Given the description of an element on the screen output the (x, y) to click on. 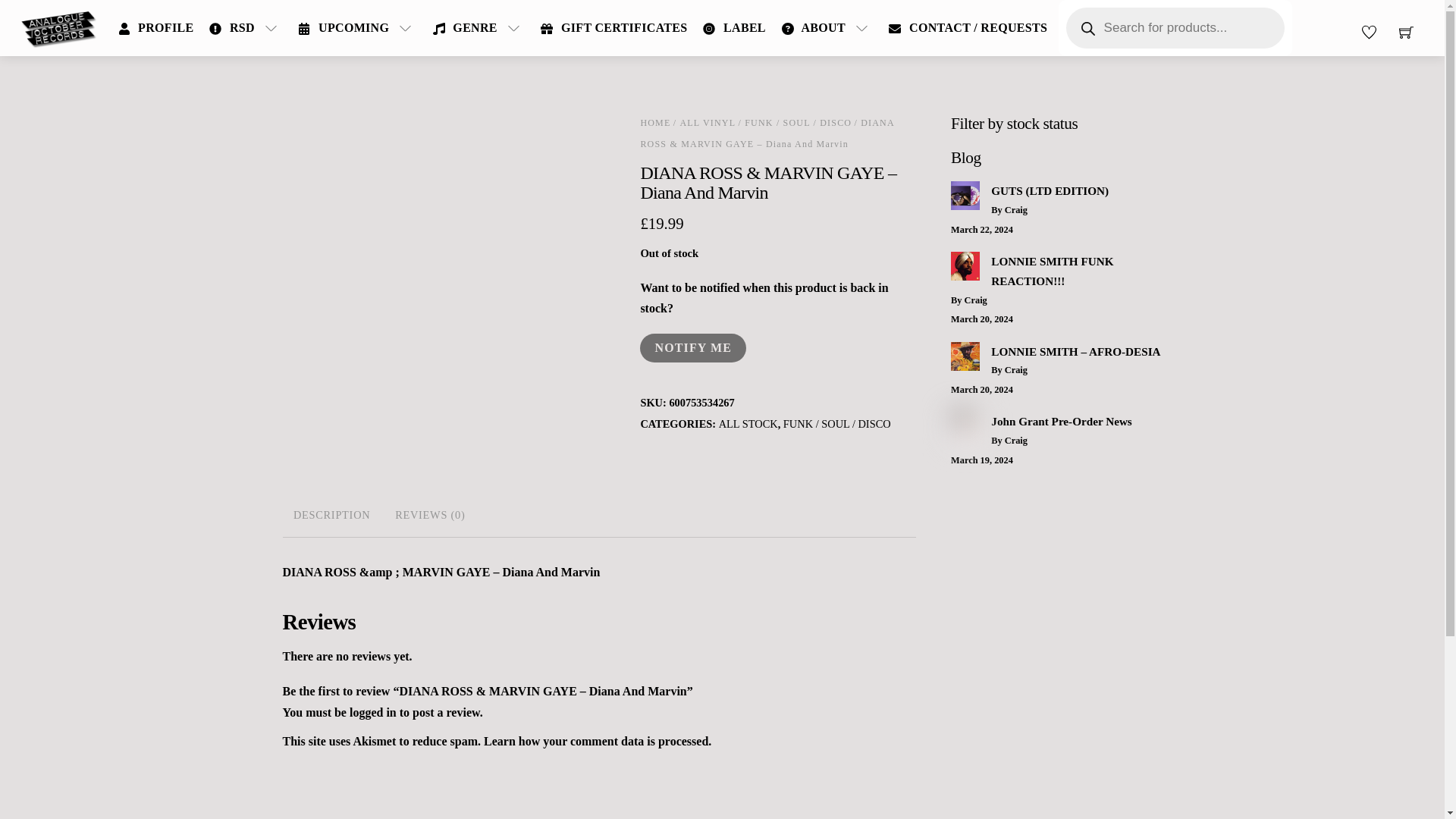
RSD (245, 28)
GENRE (478, 28)
GIFT CERTIFICATES (614, 28)
UPCOMING (358, 28)
ABOUT (826, 28)
Analogue October Records (59, 27)
LABEL (734, 28)
PROFILE (156, 28)
